Given the description of an element on the screen output the (x, y) to click on. 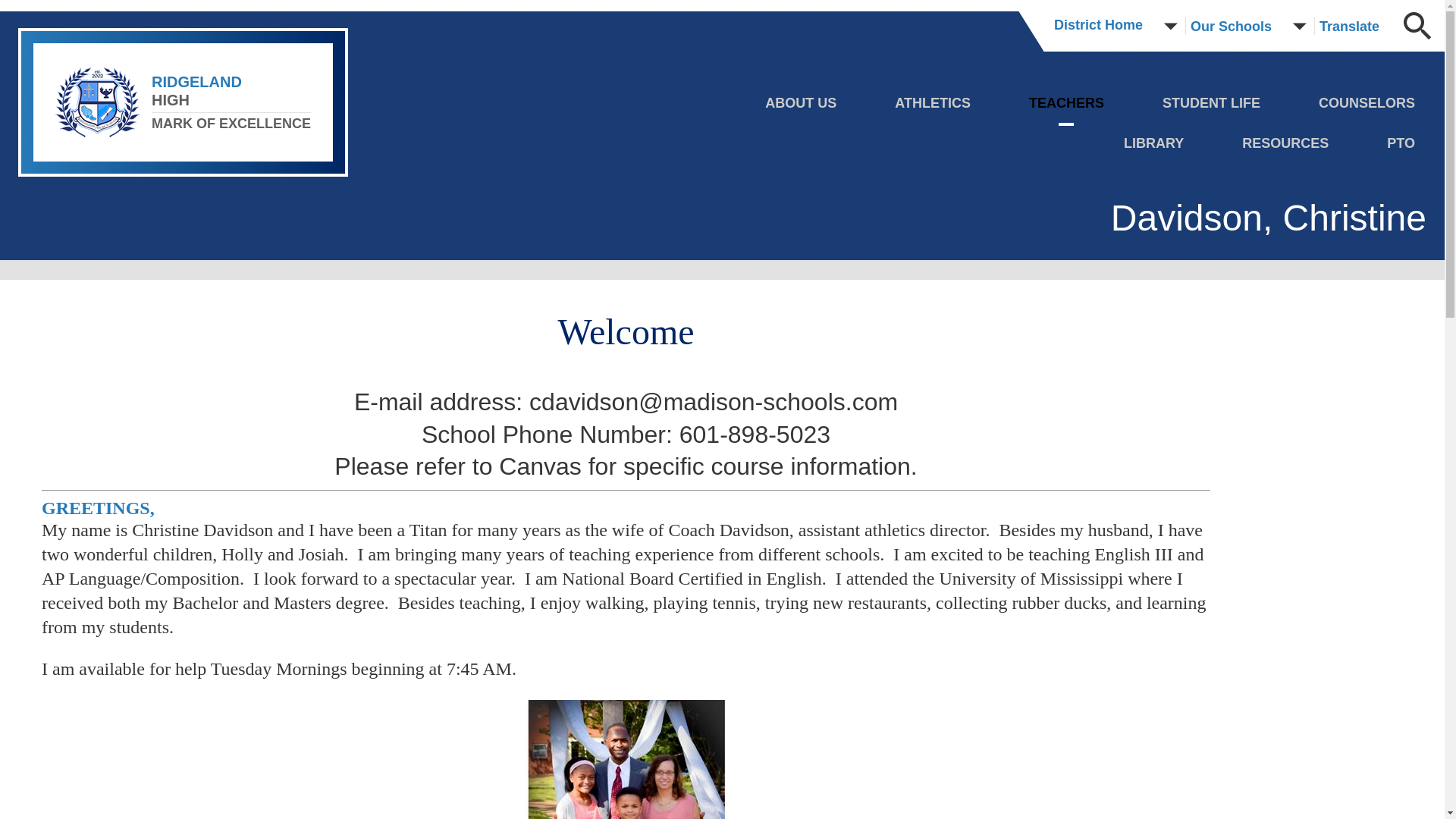
Familypic (625, 759)
